Given the description of an element on the screen output the (x, y) to click on. 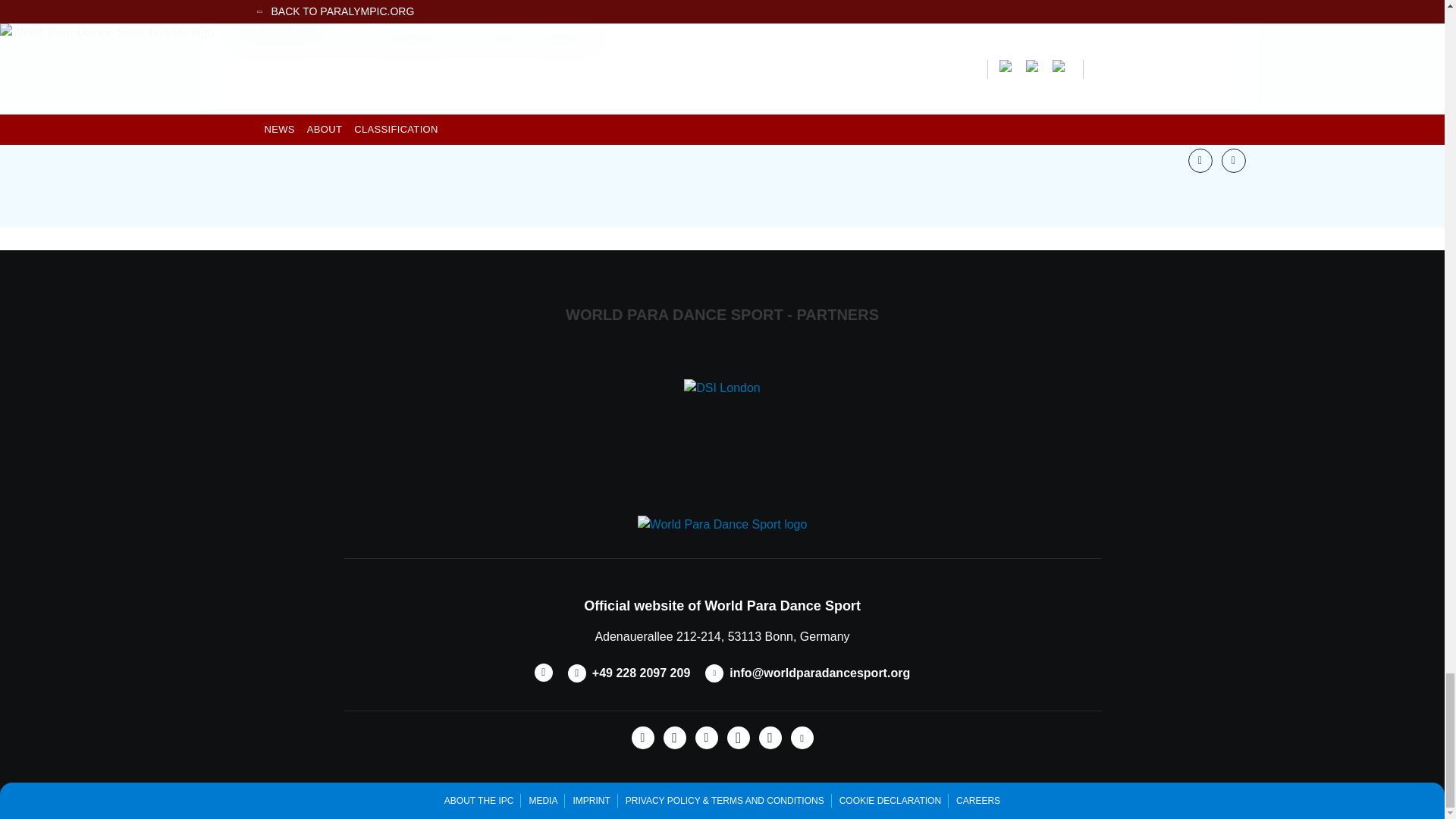
Facebook (641, 737)
DSI London (722, 388)
Adenauerallee 212-214, 53113 Bonn, Germany (721, 635)
World Para Dance Sport logo (722, 524)
Our Address (721, 635)
